Given the description of an element on the screen output the (x, y) to click on. 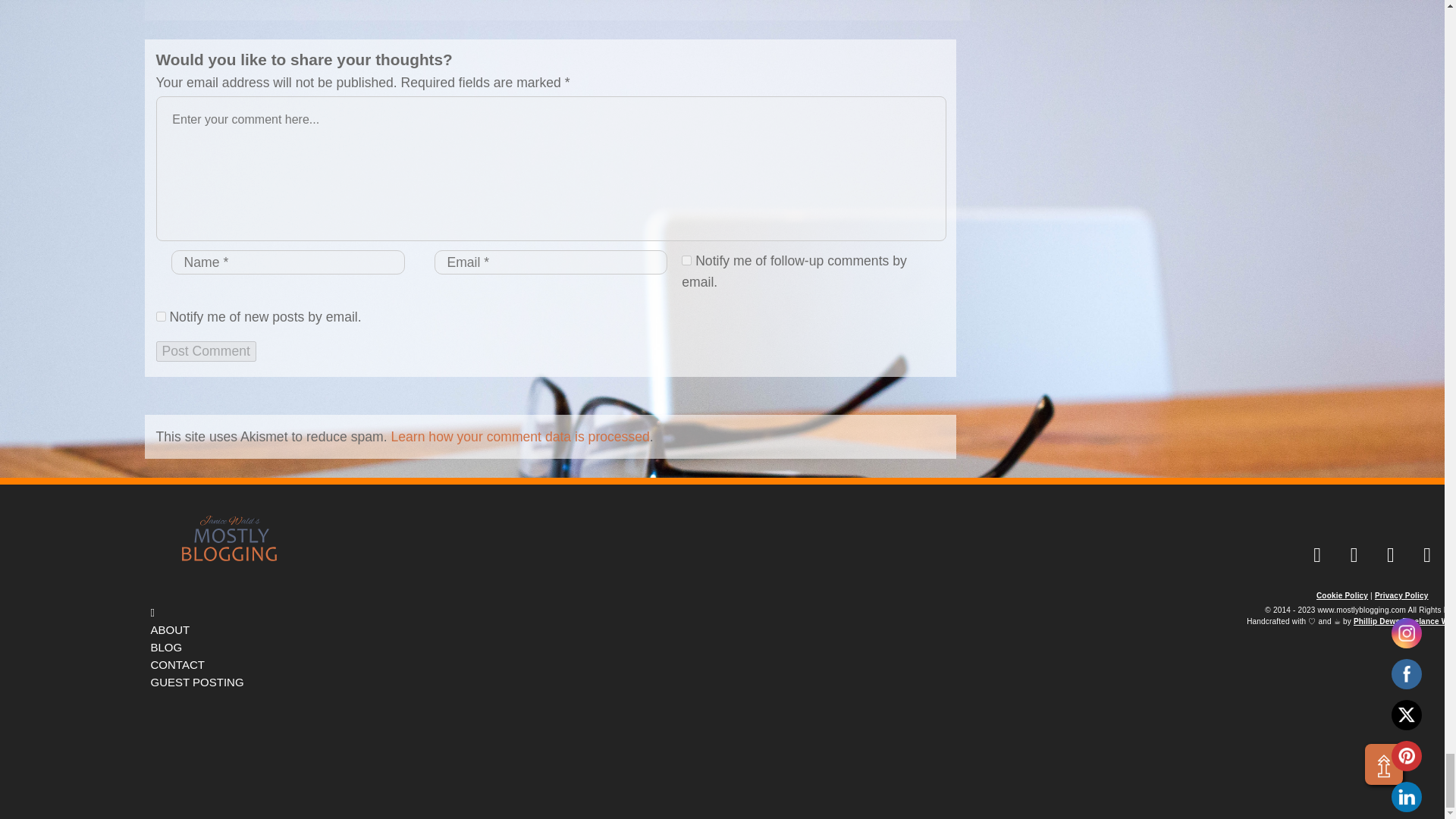
subscribe (160, 316)
Instagram (1406, 632)
Post Comment (205, 351)
Twitter (1390, 555)
Instagram (1427, 555)
subscribe (686, 260)
Pinterestn (1354, 555)
Twitter (1406, 714)
Pinterest (1406, 755)
Facebook (1316, 555)
Facebook (1406, 673)
